Given the description of an element on the screen output the (x, y) to click on. 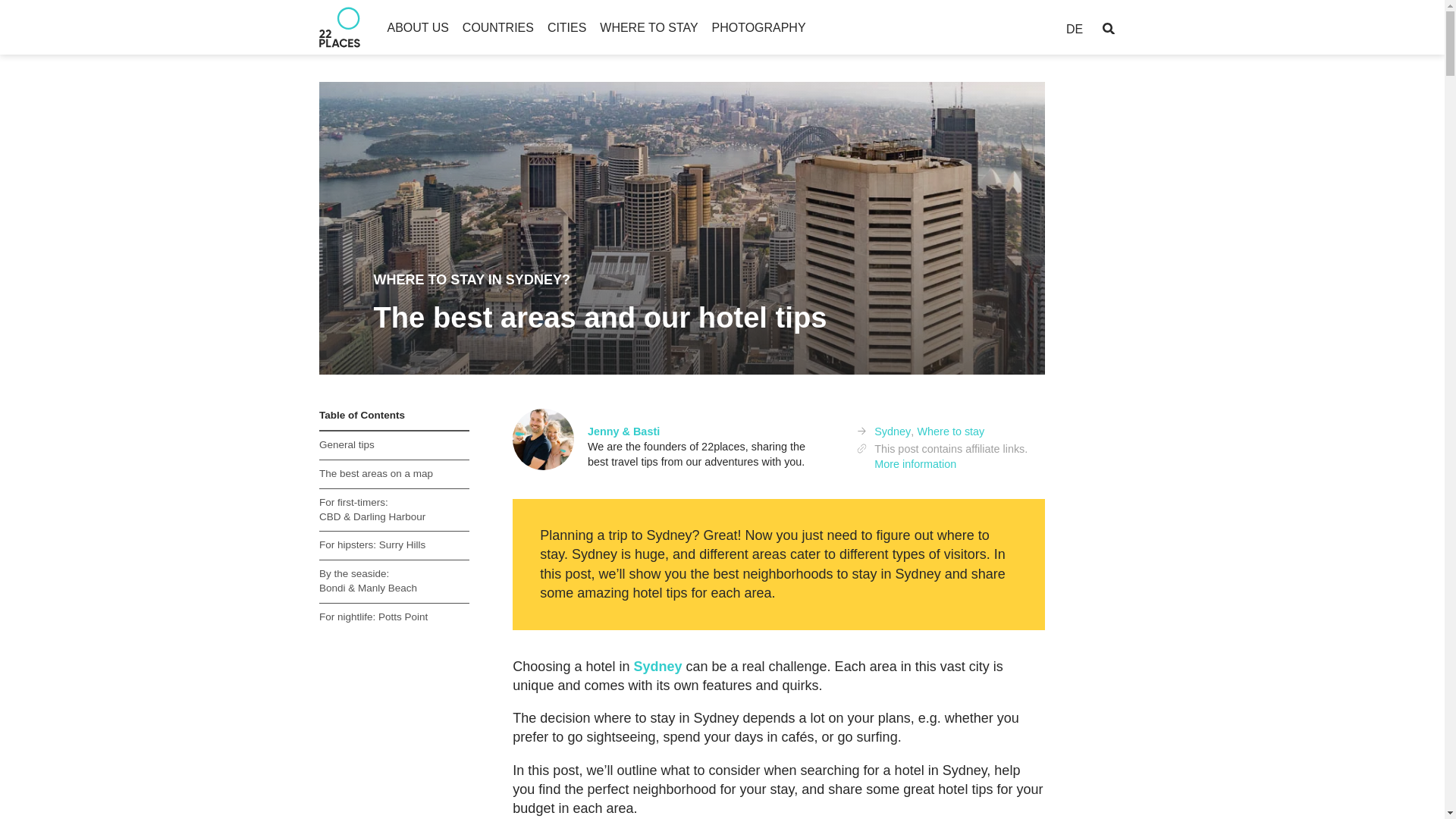
COUNTRIES (498, 27)
PHOTOGRAPHY (758, 27)
CITIES (566, 27)
Sydney (657, 666)
ABOUT US (417, 27)
For hipsters: Surry Hills (393, 545)
The best areas on a map (393, 473)
For nightlife: Potts Point (393, 617)
Sydney (893, 431)
More information (915, 463)
